Given the description of an element on the screen output the (x, y) to click on. 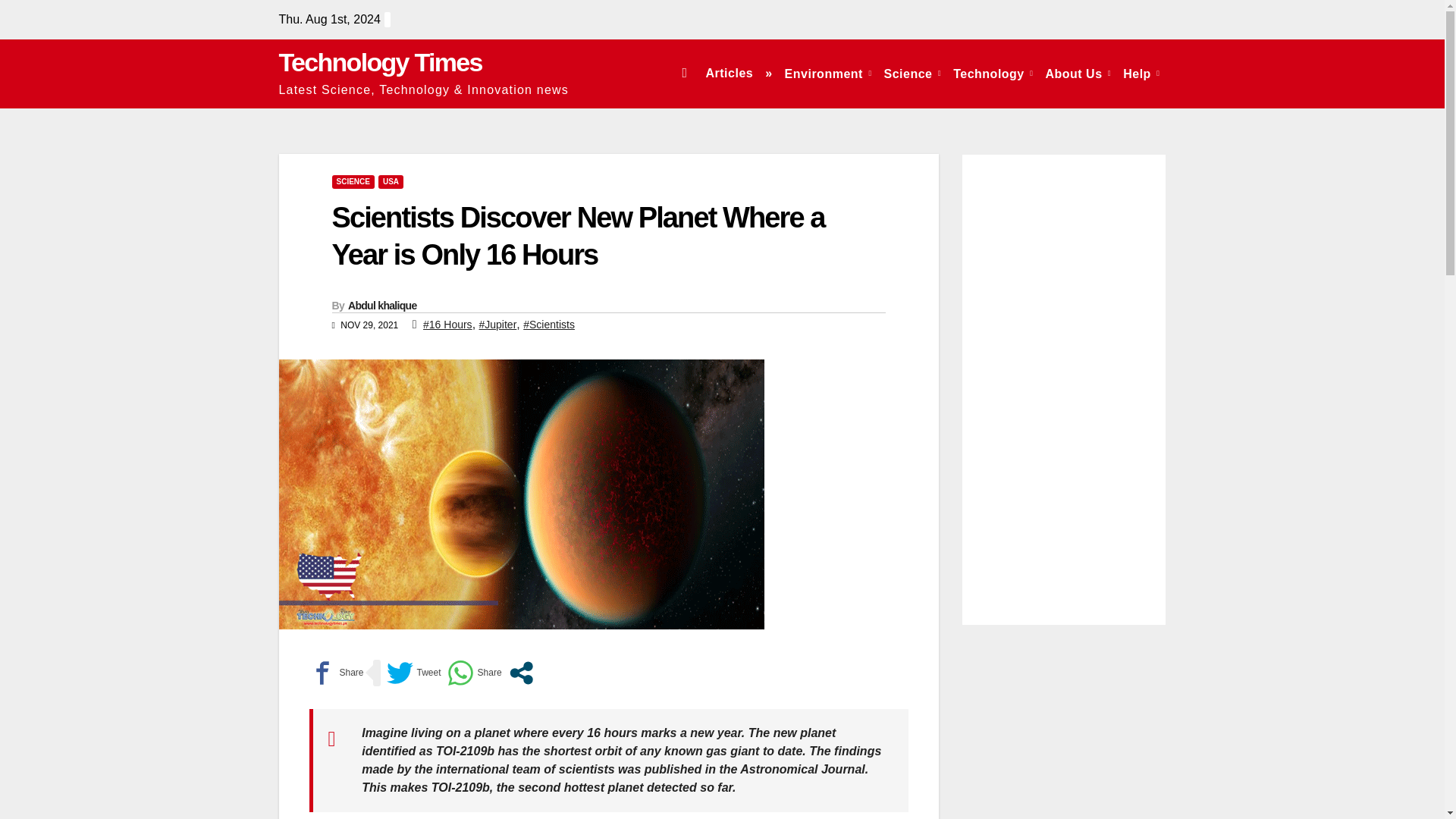
Environment (827, 73)
Science (912, 73)
Environment (827, 73)
Technology (993, 73)
Technology (993, 73)
Technology Times (380, 61)
Science (912, 73)
About Us (1077, 73)
